Given the description of an element on the screen output the (x, y) to click on. 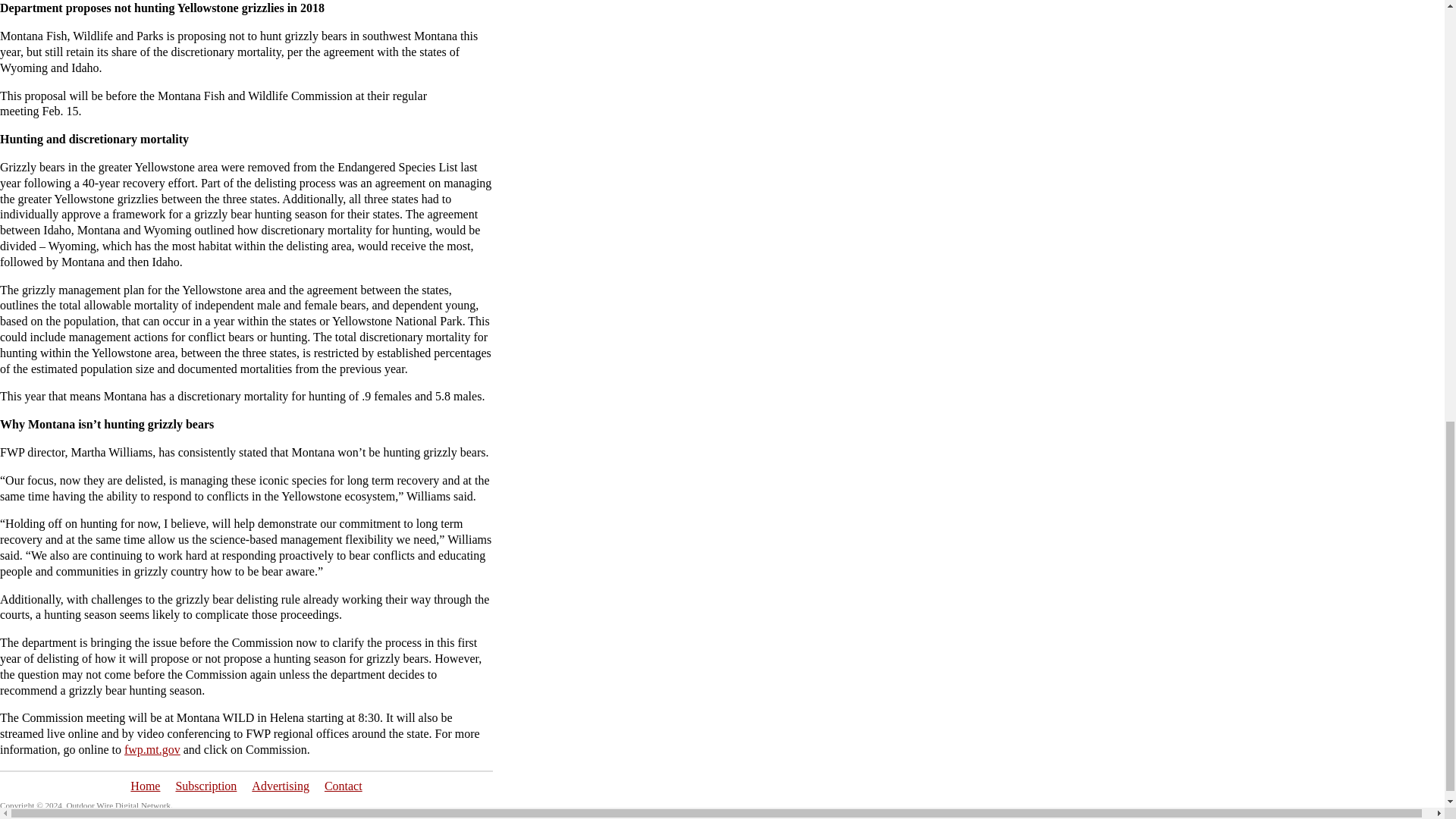
Home (145, 785)
Subscription (204, 785)
Contact (343, 785)
fwp.mt.gov (151, 748)
Advertising (279, 785)
